Given the description of an element on the screen output the (x, y) to click on. 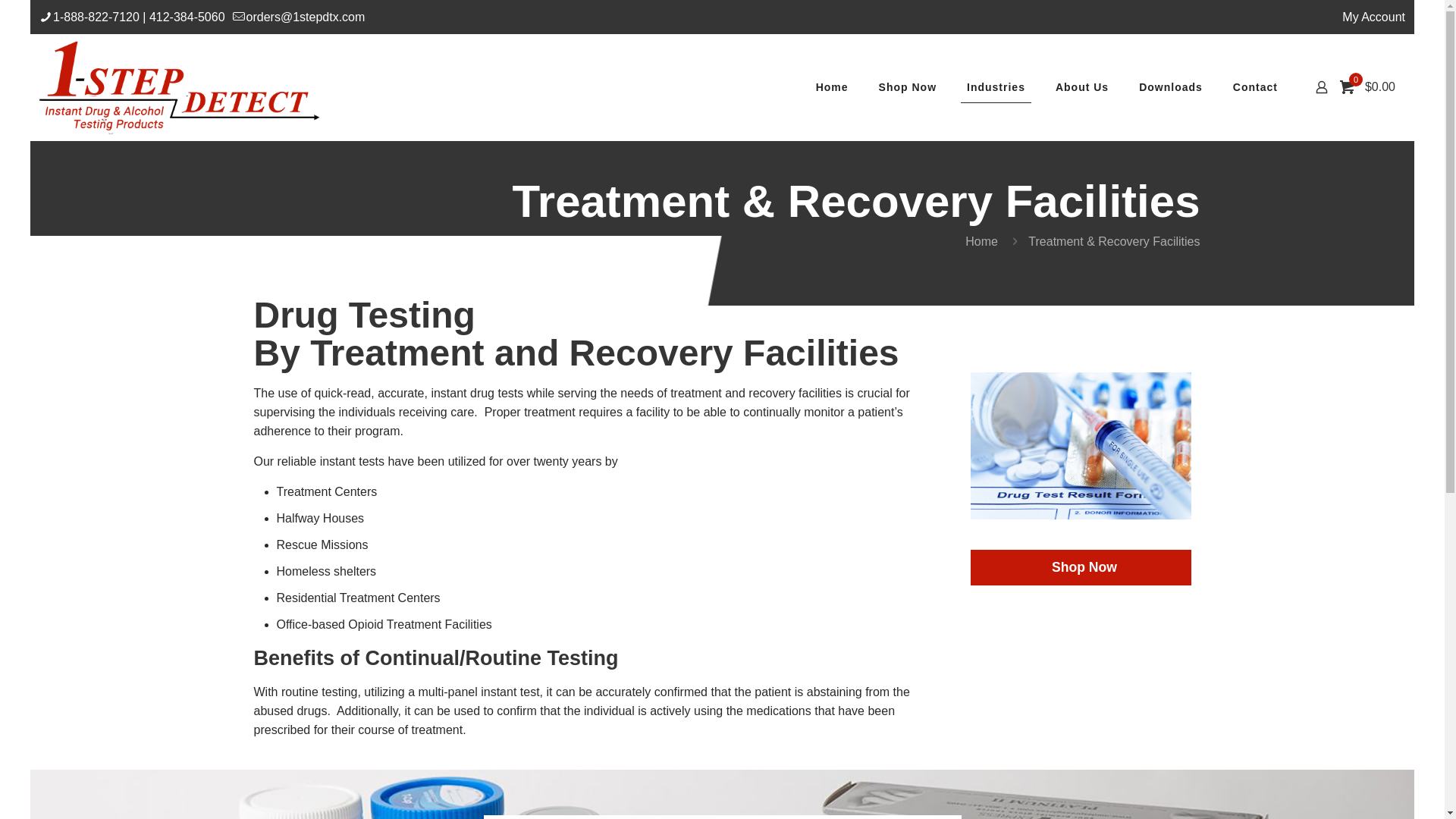
Home Element type: text (981, 241)
My Account Element type: text (1373, 16)
Downloads Element type: text (1170, 87)
1 Step Detect Element type: hover (179, 87)
Home Element type: text (831, 87)
About Us Element type: text (1081, 87)
0
$0.00 Element type: text (1369, 86)
Shop Now Element type: text (907, 87)
1-888-822-7120 | 412-384-5060 Element type: text (139, 16)
Contact Element type: text (1254, 87)
Industries Element type: text (995, 87)
Shop Now Element type: text (1080, 567)
orders@1stepdtx.com Element type: text (305, 16)
